Given the description of an element on the screen output the (x, y) to click on. 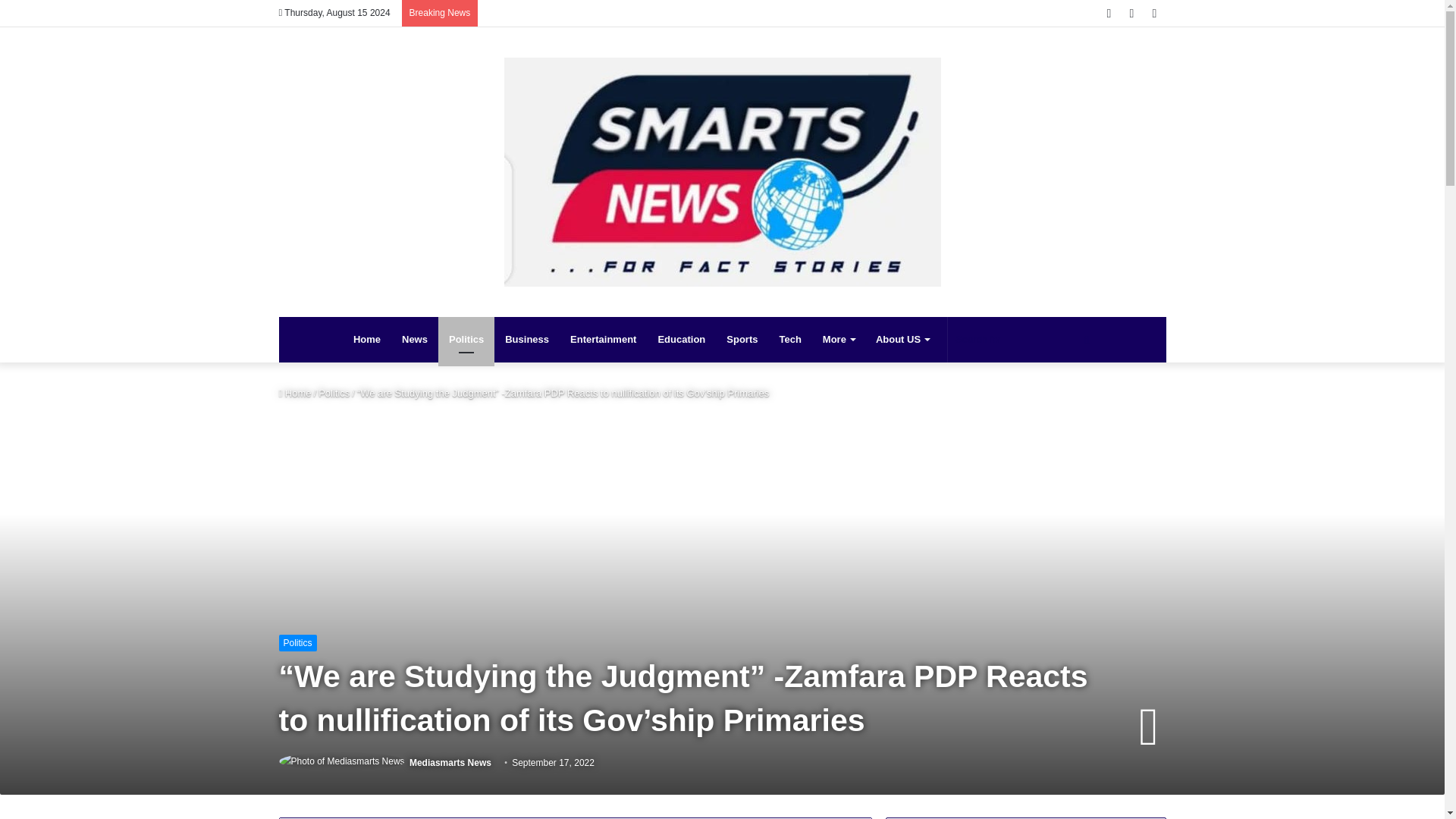
Business (527, 339)
Entertainment (602, 339)
Education (681, 339)
Tech (789, 339)
Home (366, 339)
About US (901, 339)
Politics (298, 642)
Mediasmarts News (721, 171)
More (838, 339)
Politics (466, 339)
